Given the description of an element on the screen output the (x, y) to click on. 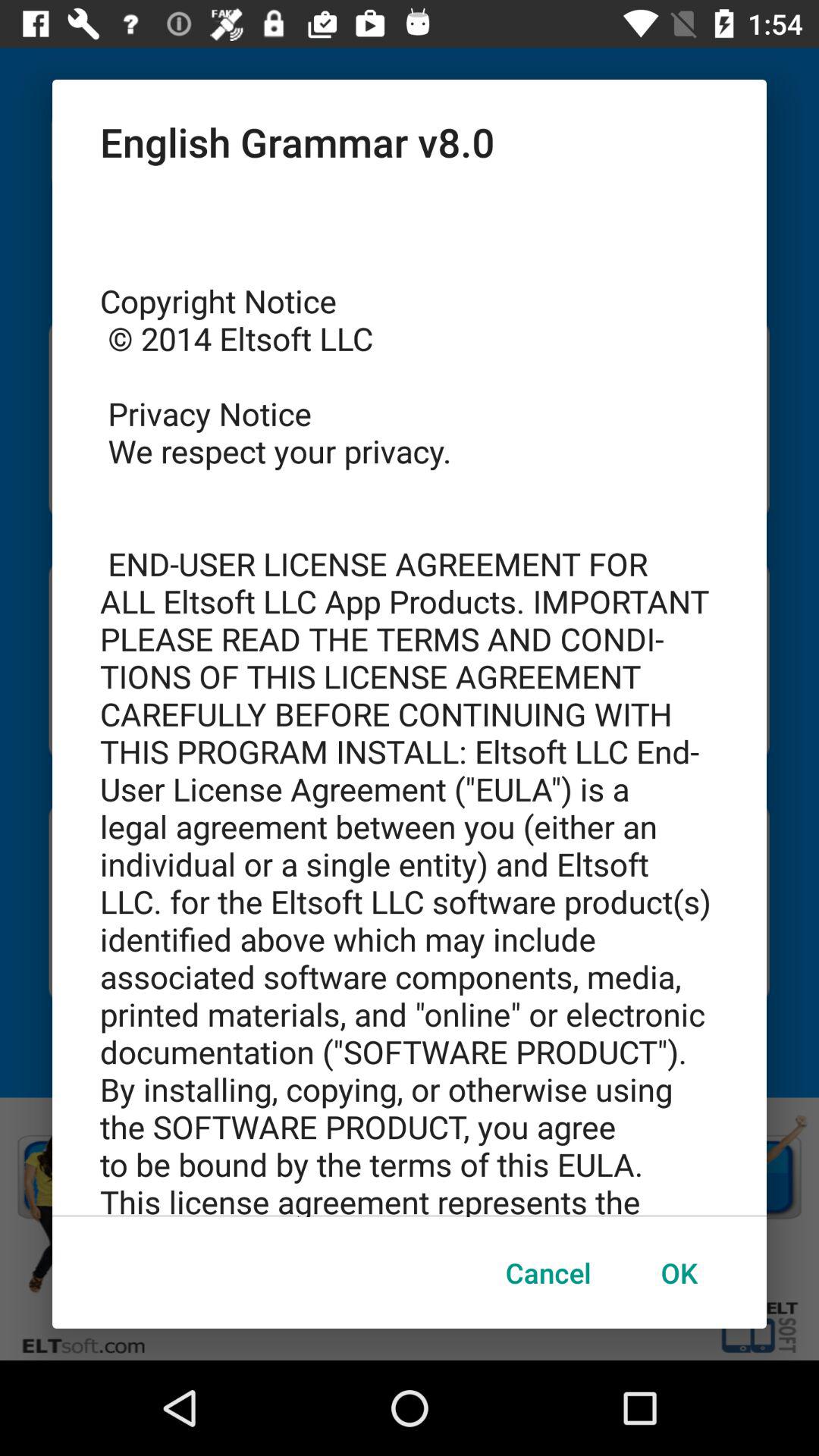
jump to ok button (678, 1272)
